Given the description of an element on the screen output the (x, y) to click on. 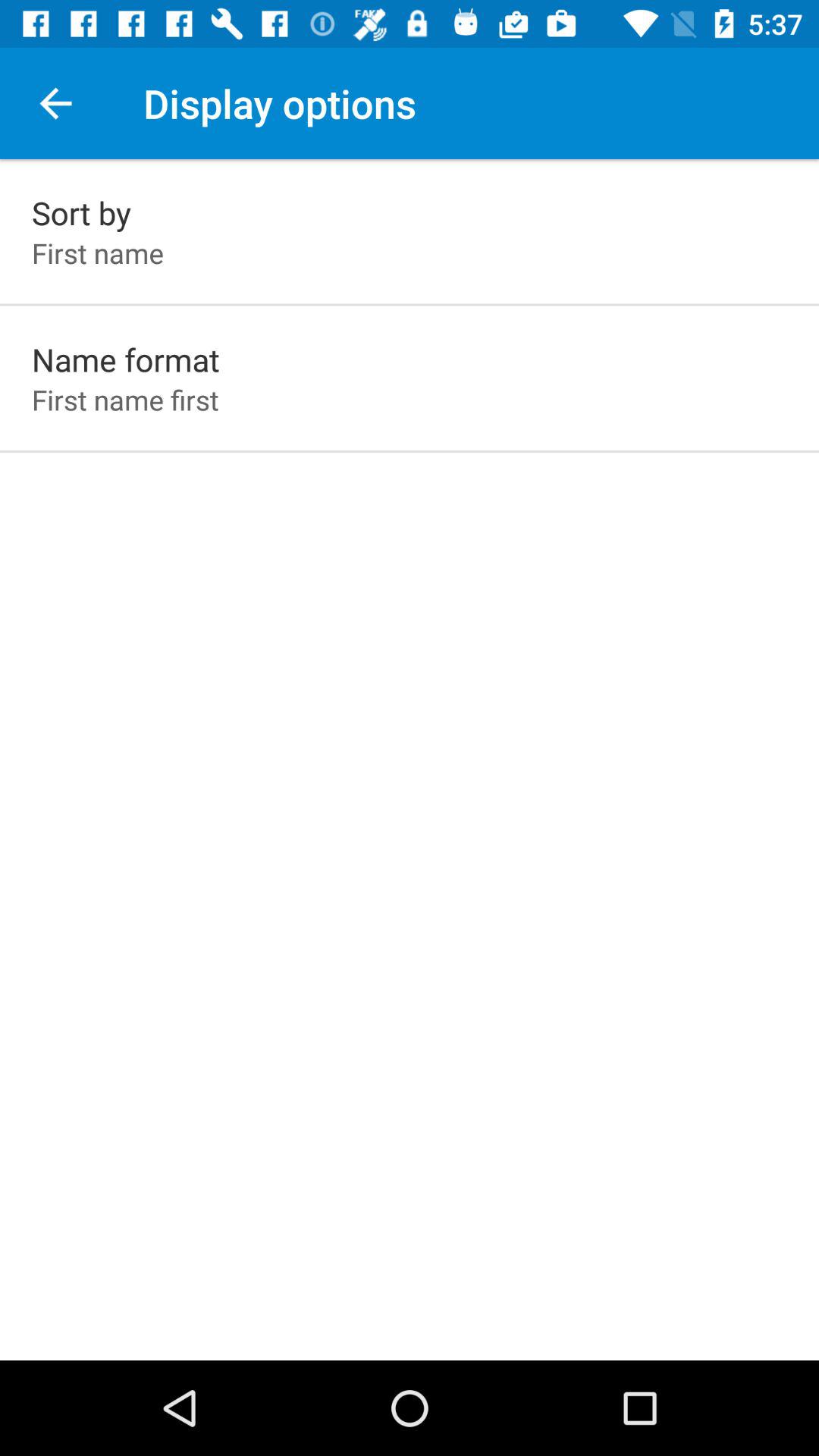
launch item above first name first item (125, 359)
